Given the description of an element on the screen output the (x, y) to click on. 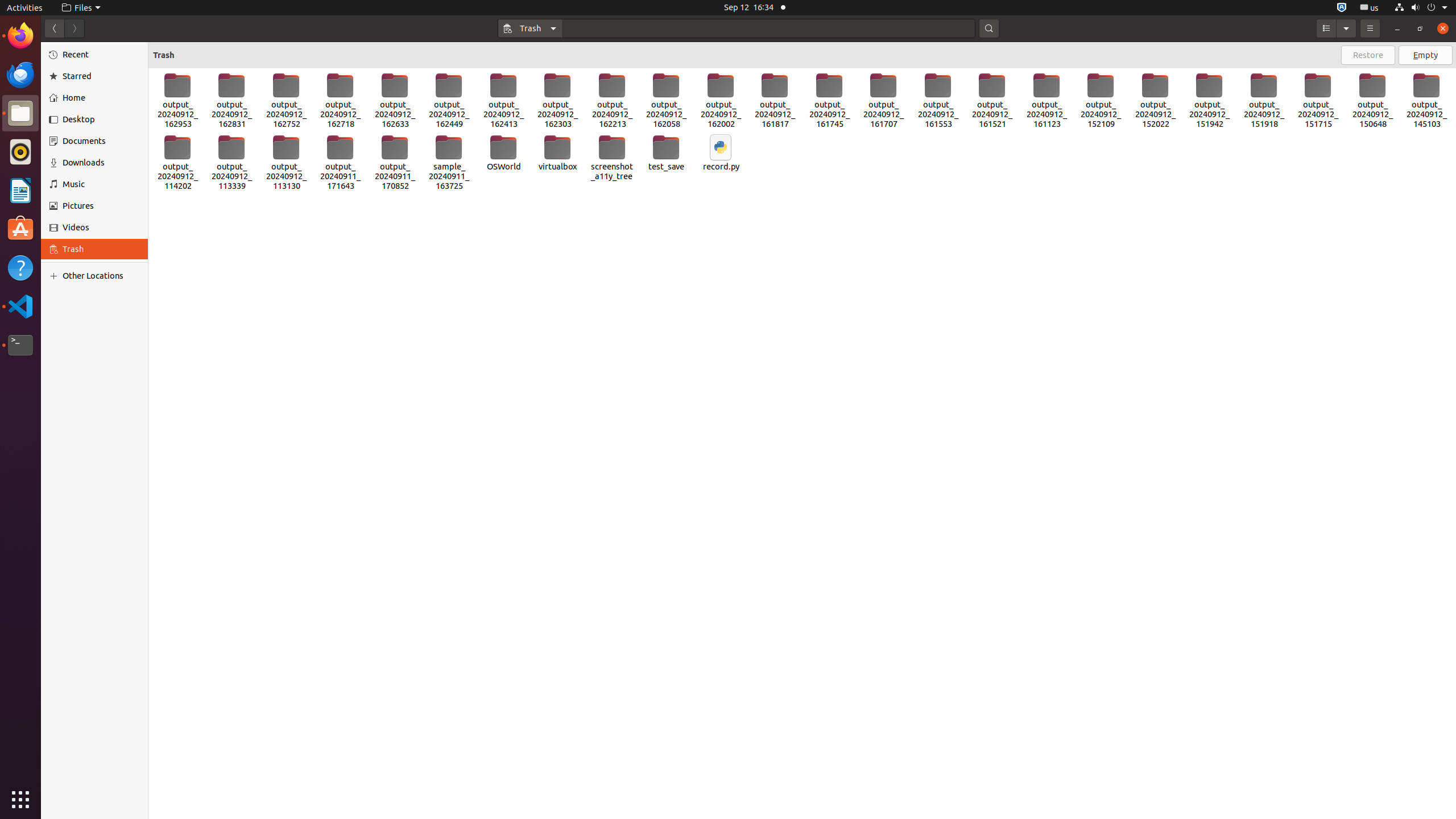
output_20240912_162718 Element type: canvas (339, 100)
output_20240912_145103 Element type: canvas (1426, 100)
Activities Element type: label (24, 7)
OSWorld Element type: canvas (503, 152)
output_20240912_162058 Element type: canvas (665, 100)
